Given the description of an element on the screen output the (x, y) to click on. 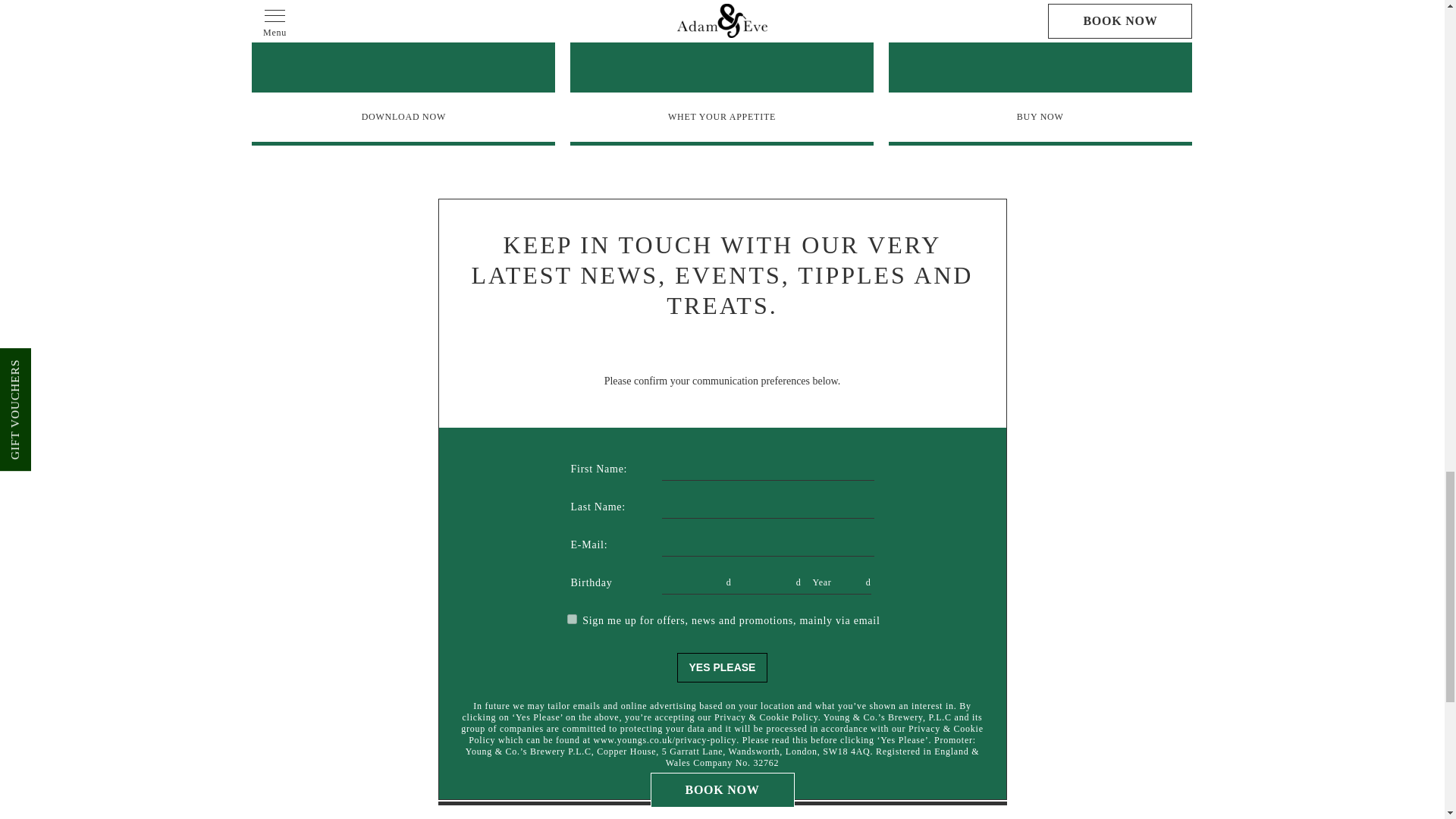
DOWNLOAD NOW (402, 116)
YES PLEASE (722, 667)
true (571, 619)
Whet your appetite (721, 116)
Download now (402, 116)
Buy now (1040, 116)
BUY NOW (1040, 116)
WHET YOUR APPETITE (721, 116)
